Given the description of an element on the screen output the (x, y) to click on. 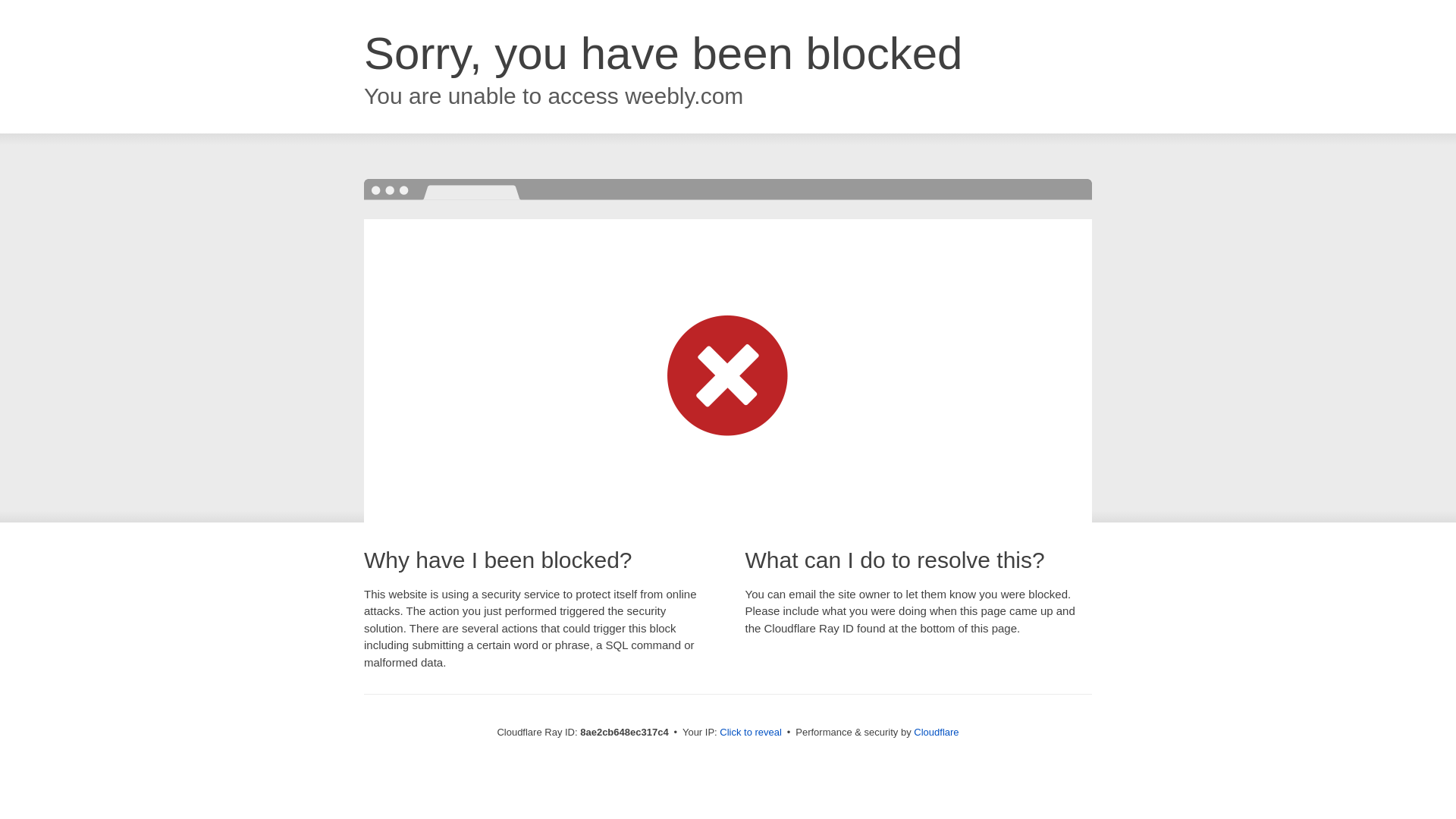
Cloudflare (936, 731)
Click to reveal (750, 732)
